Given the description of an element on the screen output the (x, y) to click on. 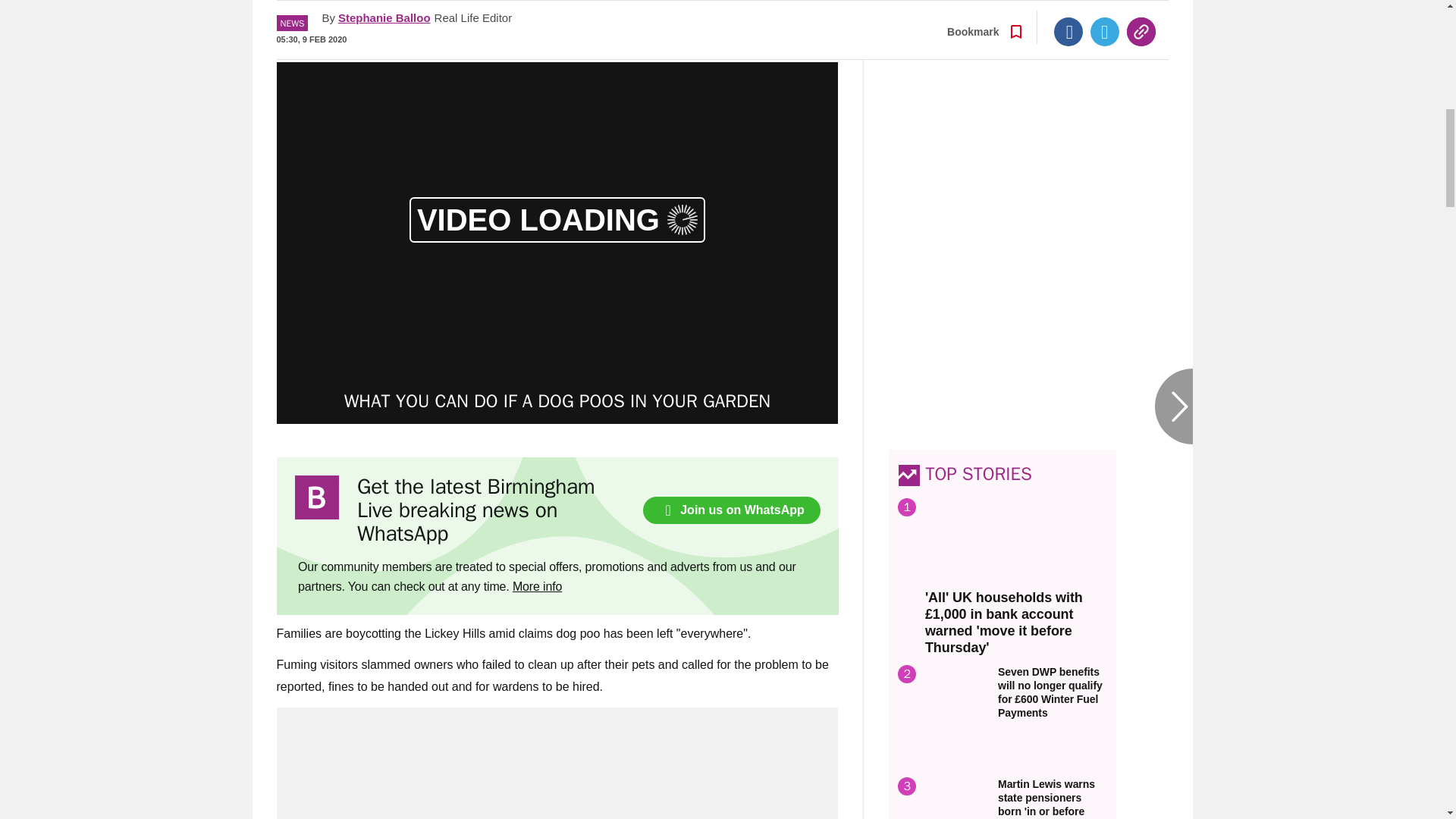
Go (730, 13)
